Given the description of an element on the screen output the (x, y) to click on. 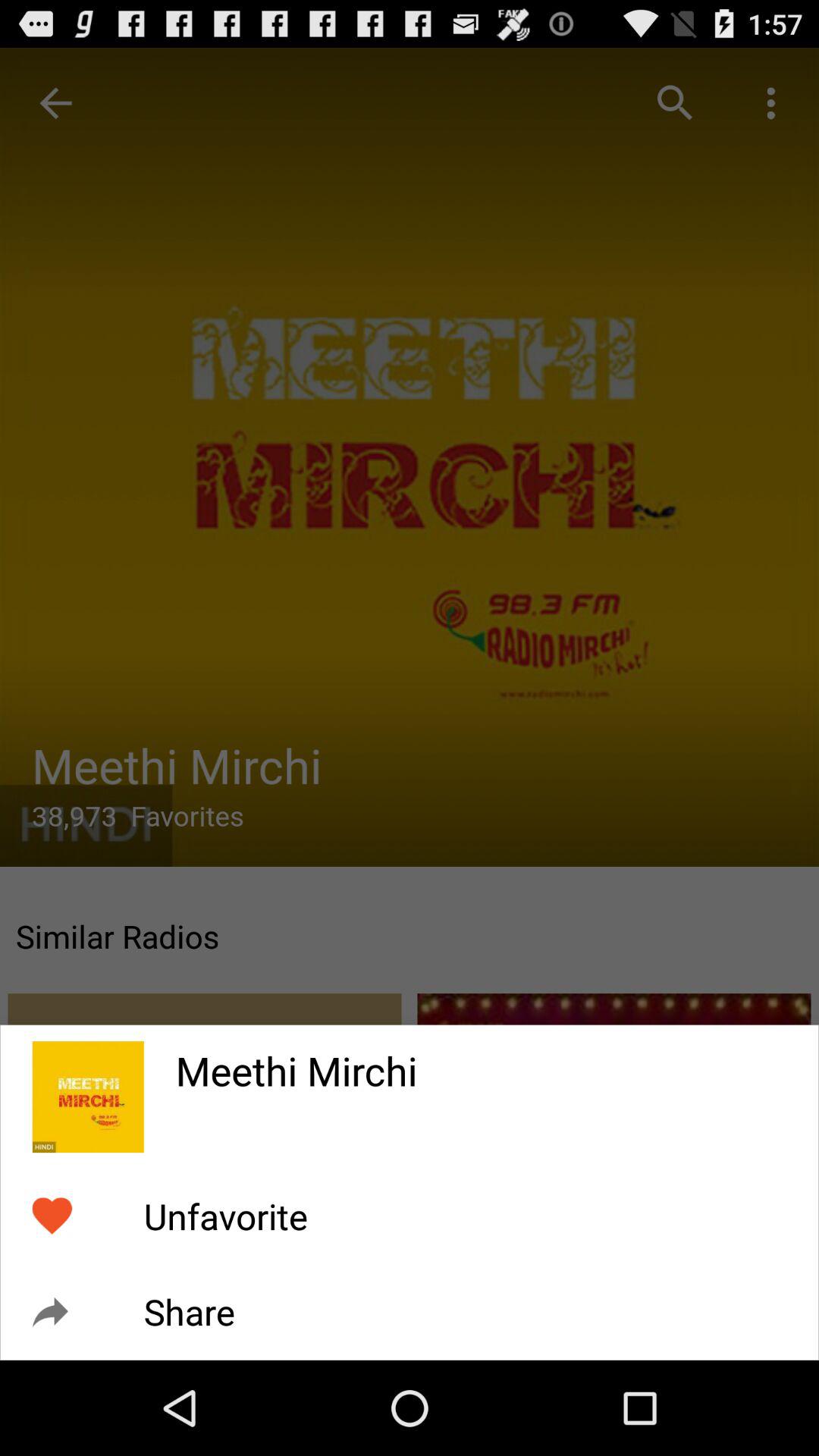
jump to meethi mirchi (480, 1061)
